Given the description of an element on the screen output the (x, y) to click on. 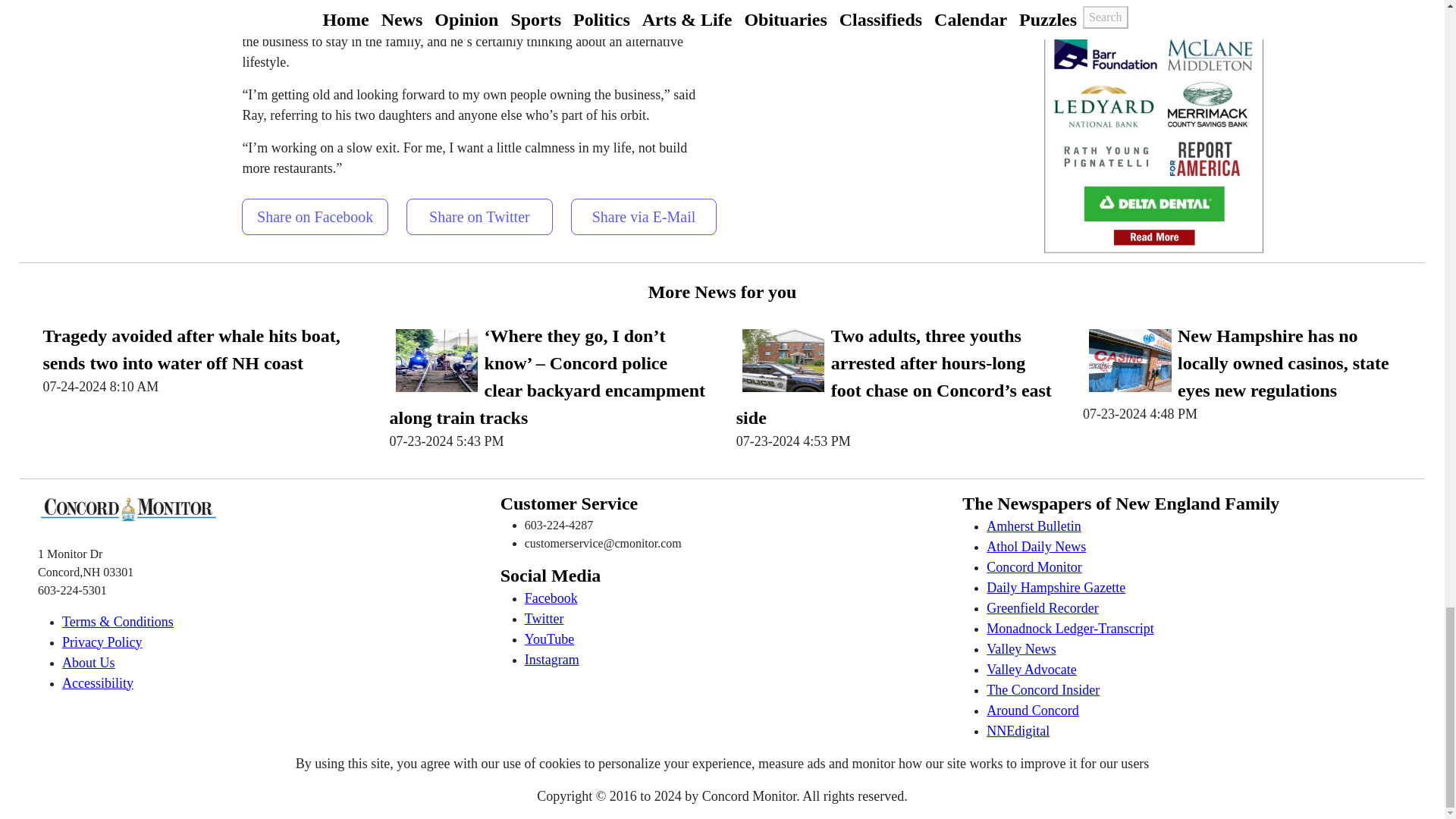
Share on Facebook (314, 212)
